Given the description of an element on the screen output the (x, y) to click on. 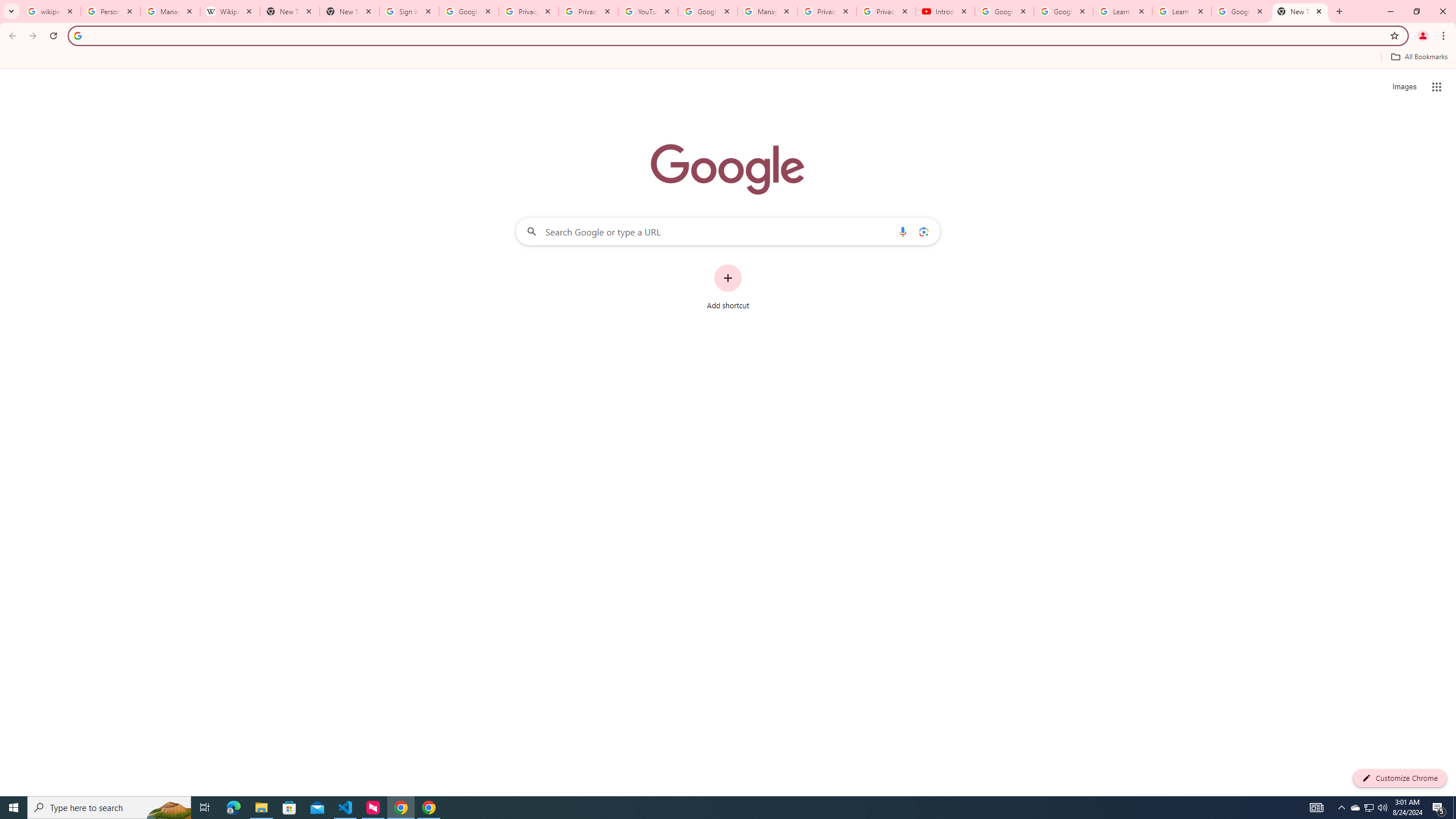
Google Account Help (1004, 11)
New Tab (1300, 11)
Google Drive: Sign-in (468, 11)
Personalization & Google Search results - Google Search Help (110, 11)
Introduction | Google Privacy Policy - YouTube (944, 11)
